Given the description of an element on the screen output the (x, y) to click on. 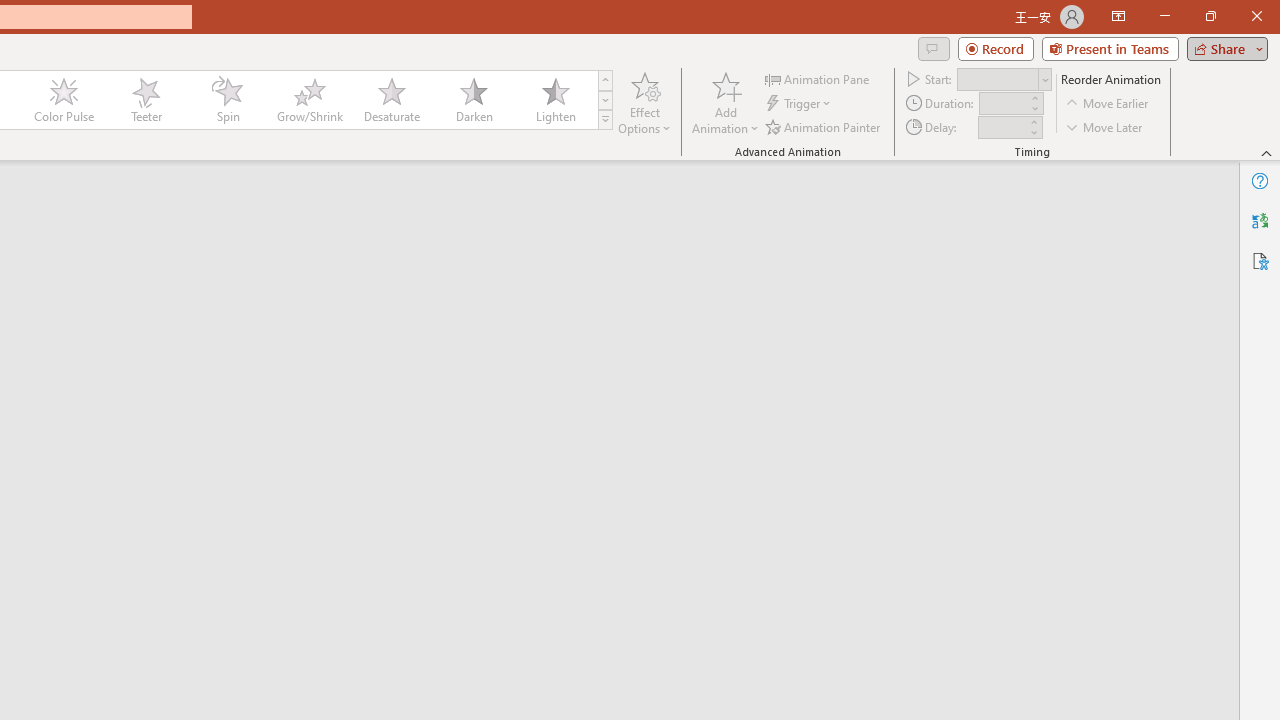
Animation Styles (605, 120)
Row Down (605, 100)
Translator (1260, 220)
Accessibility (1260, 260)
Lighten (555, 100)
More (1033, 121)
Start (1004, 78)
Add Animation (725, 102)
Grow/Shrink (309, 100)
